Given the description of an element on the screen output the (x, y) to click on. 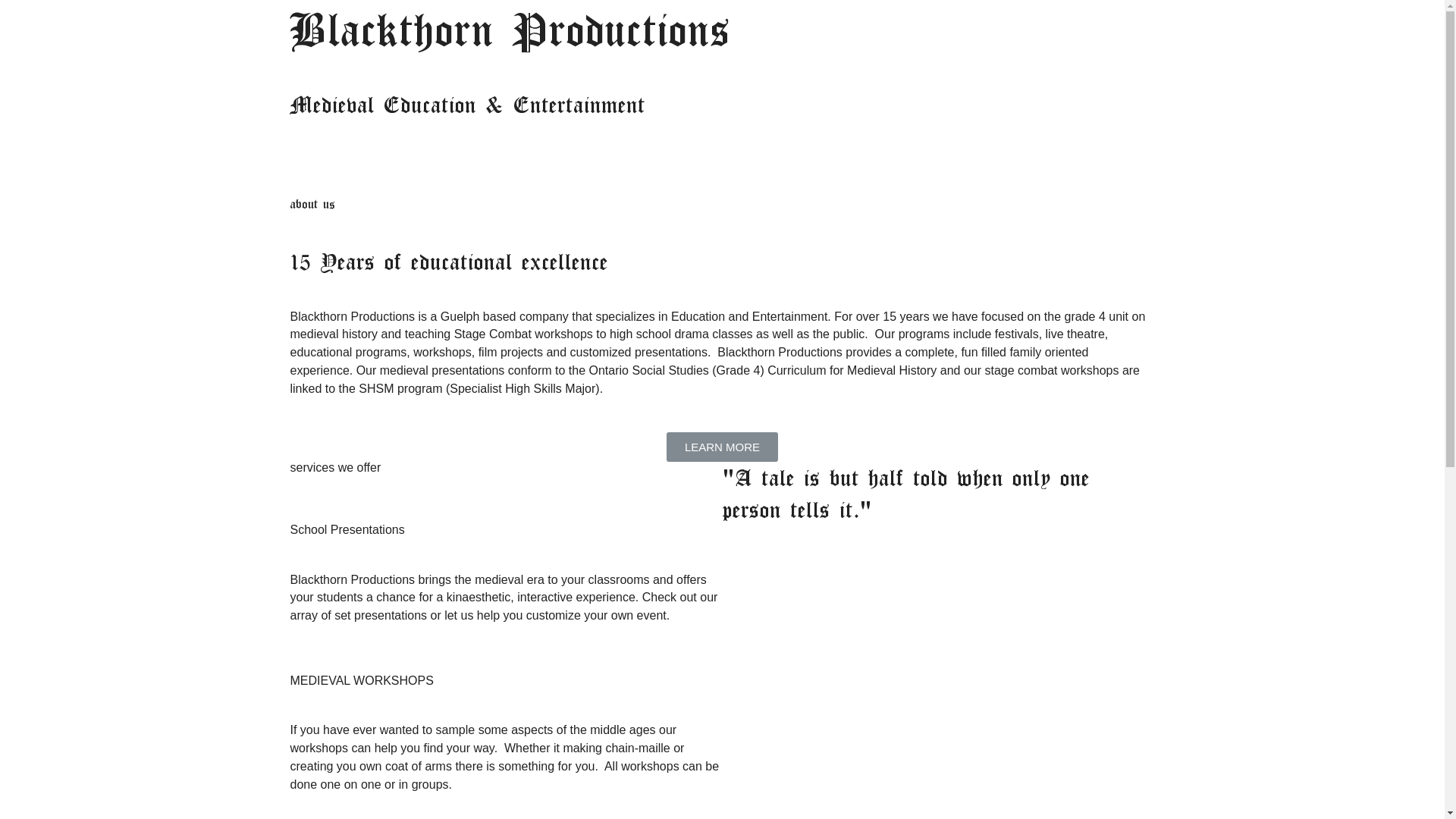
ABOUT Element type: text (808, 24)
EVENTS Element type: text (978, 24)
LEARN MORE Element type: text (722, 446)
CONTACT Element type: text (1135, 24)
GALLERY Element type: text (1055, 24)
SERVICES Element type: text (891, 24)
HOME Element type: text (745, 24)
